Given the description of an element on the screen output the (x, y) to click on. 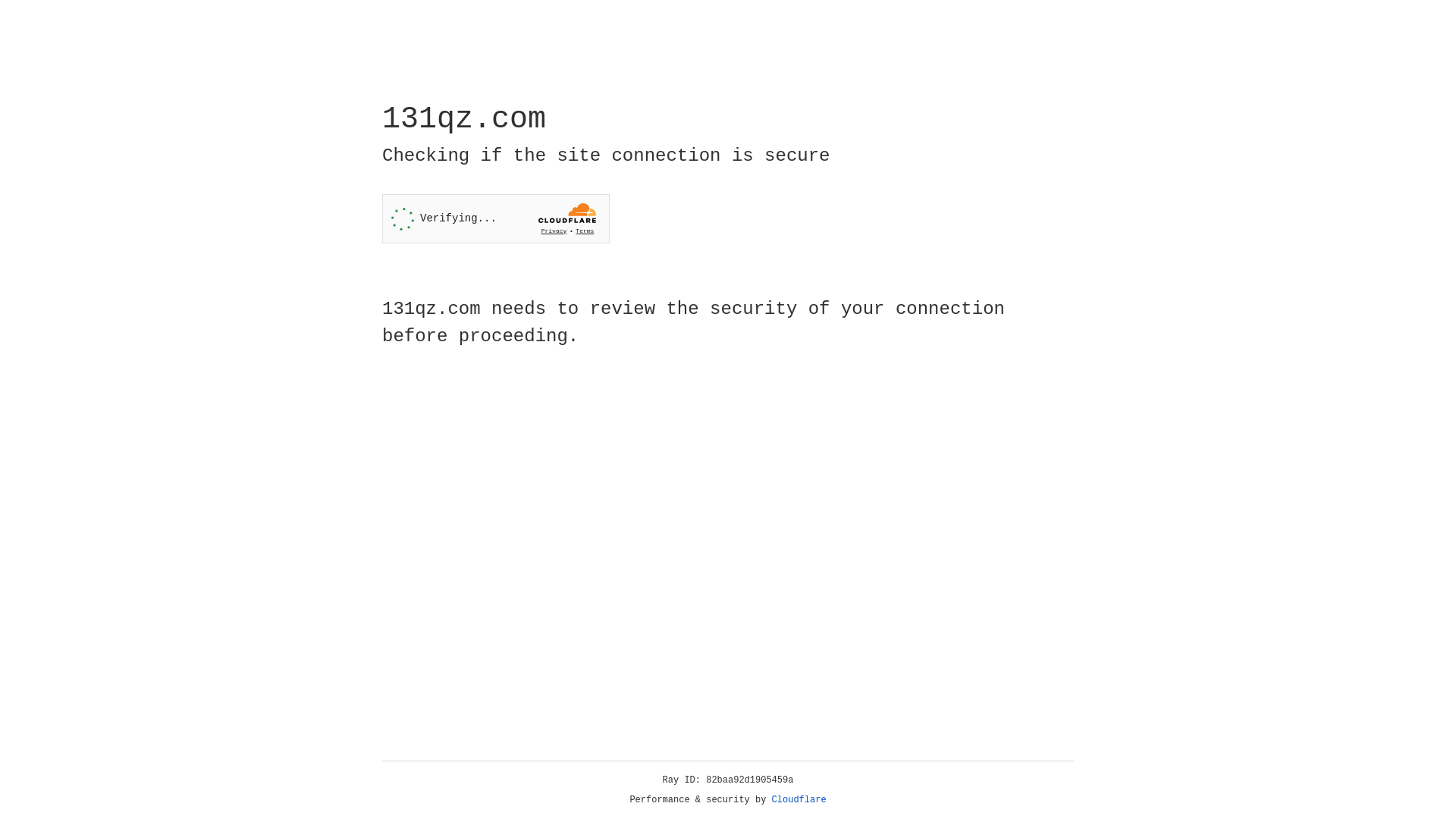
Cloudflare Element type: text (798, 799)
Widget containing a Cloudflare security challenge Element type: hover (495, 218)
